Given the description of an element on the screen output the (x, y) to click on. 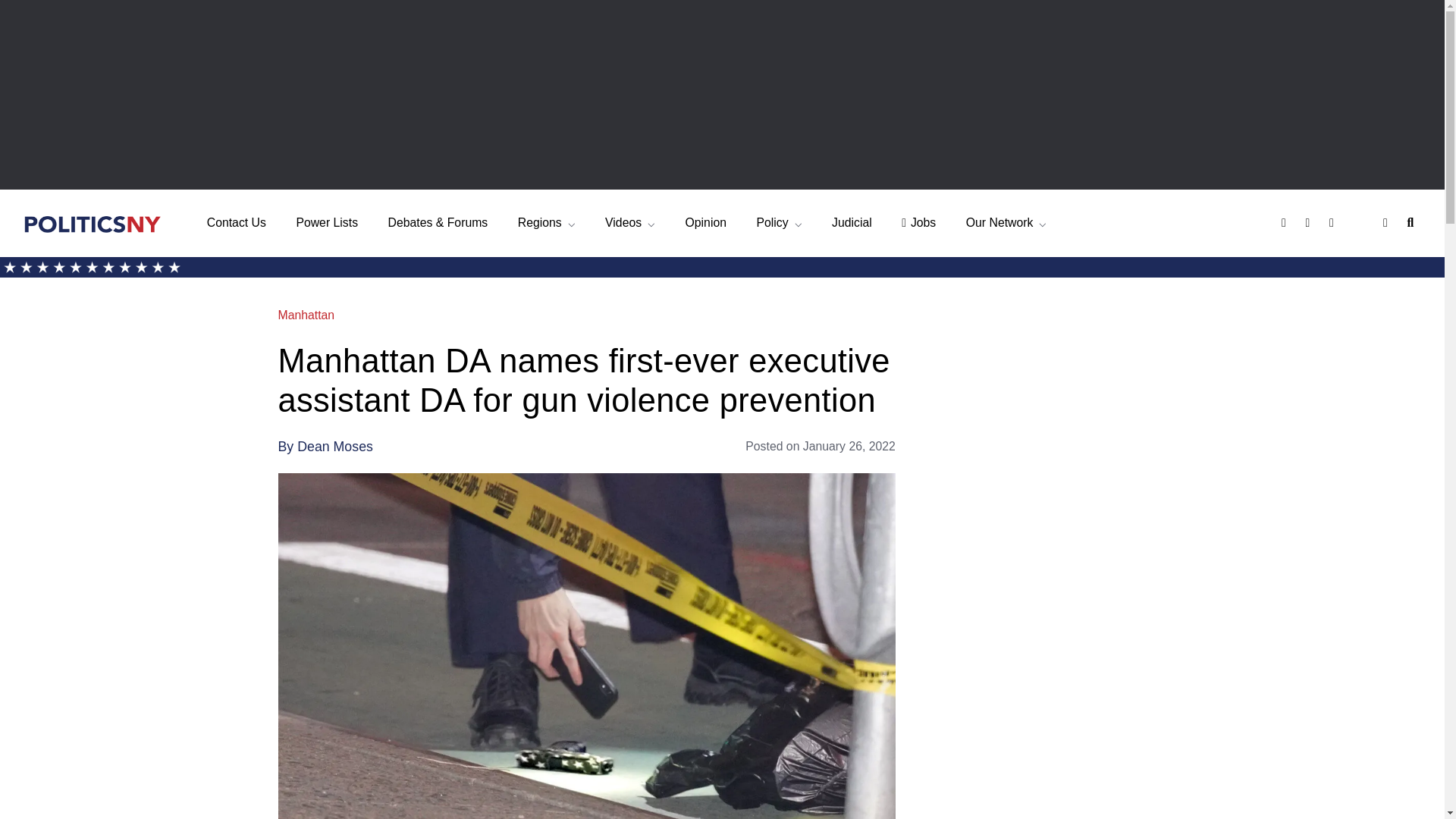
Policy (778, 222)
Our Network (1006, 222)
Contact Us (236, 222)
Power Lists (326, 222)
Videos (630, 222)
Opinion (705, 222)
Regions (546, 222)
Judicial (851, 222)
Jobs (918, 222)
